Given the description of an element on the screen output the (x, y) to click on. 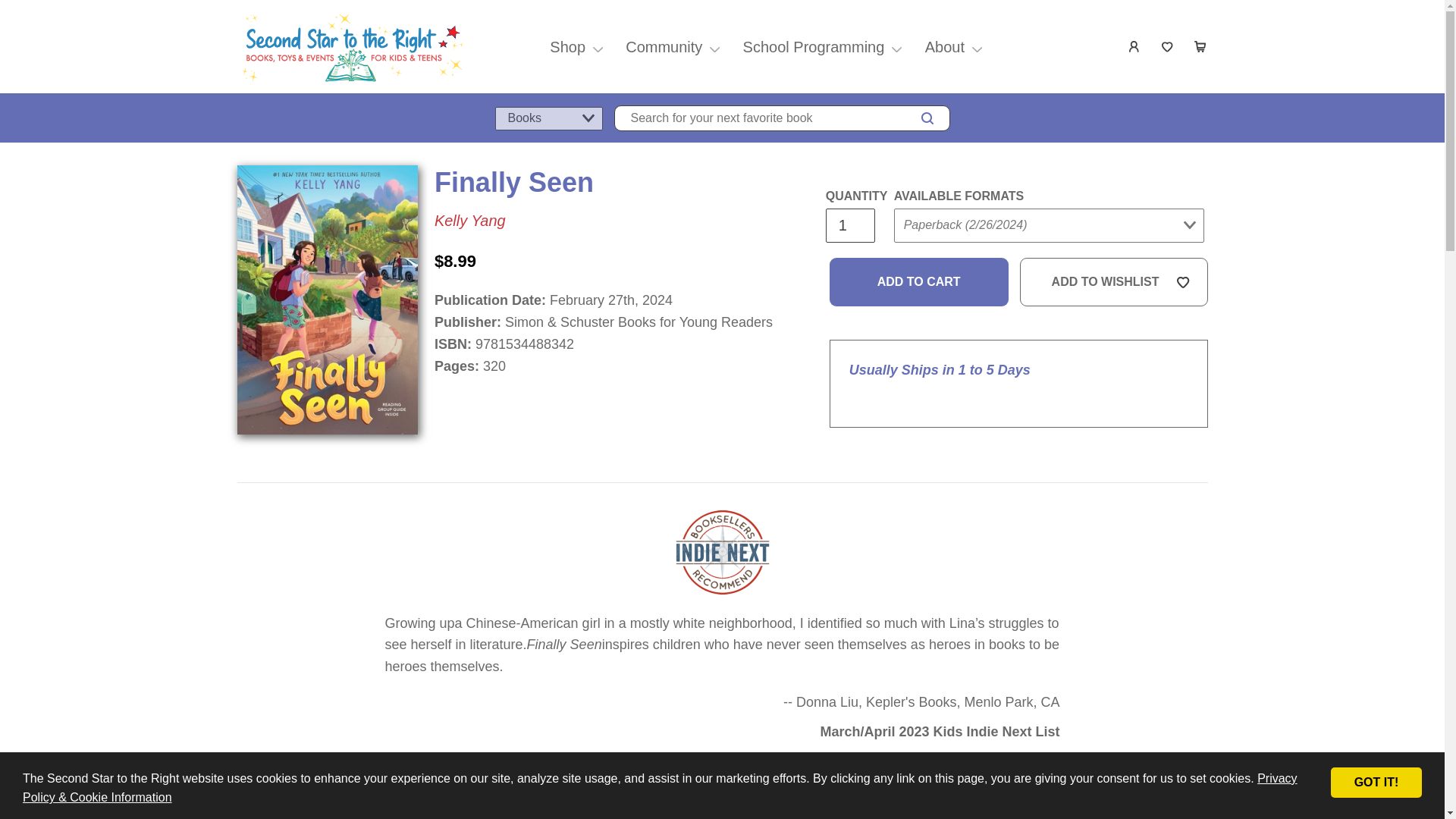
Wishlist (1168, 46)
COMMUNITY SUB-NAVIGATION (714, 47)
1 (850, 225)
ABOUT SUB-NAVIGATION (976, 47)
Add to cart (919, 281)
Cart (1201, 46)
Community (663, 47)
SHOP SUB-NAVIGATION (597, 47)
School Programming (814, 47)
SCHOOL PROGRAMMING SUB-NAVIGATION (896, 47)
Log in (1134, 46)
Shop (567, 47)
About (945, 47)
